Given the description of an element on the screen output the (x, y) to click on. 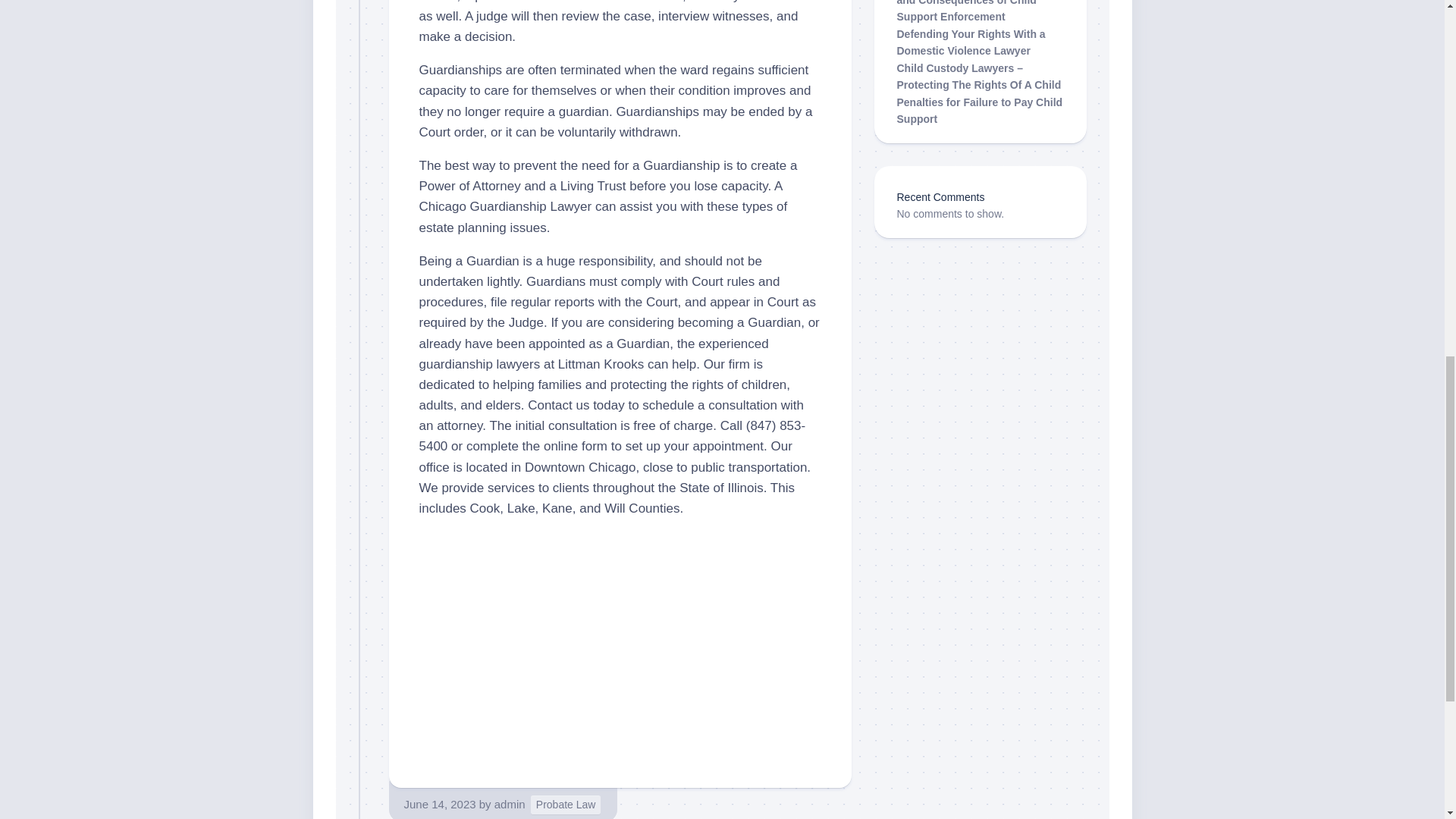
Probate Law (566, 804)
Defending Your Rights With a Domestic Violence Lawyer (970, 41)
Posts by admin (510, 803)
Penalties for Failure to Pay Child Support (979, 110)
admin (510, 803)
YouTube video player (620, 644)
